Given the description of an element on the screen output the (x, y) to click on. 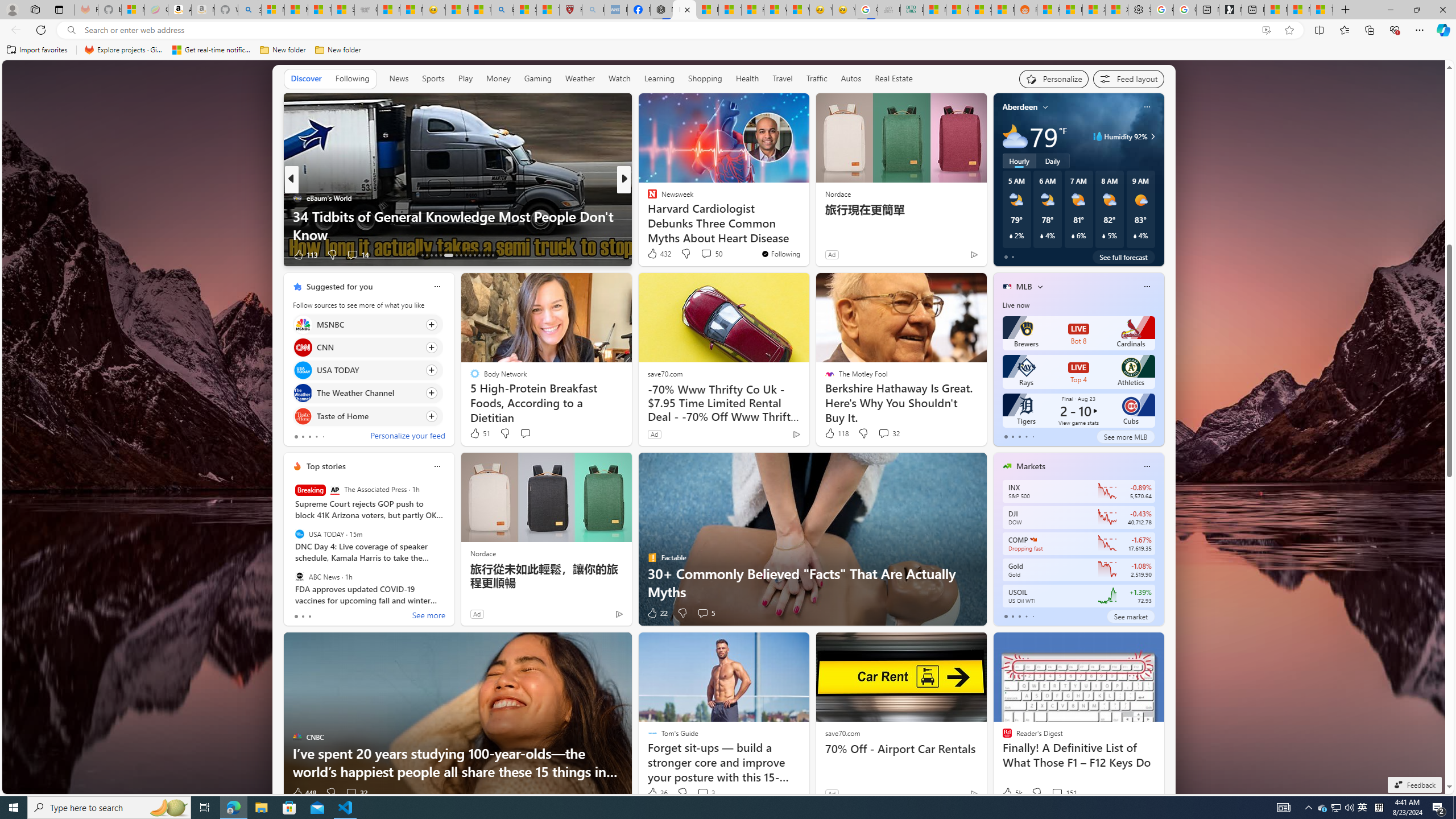
Class: weather-current-precipitation-glyph (1134, 235)
AutomationID: tab-66 (422, 255)
My location (1045, 106)
View comments 151 Comment (1063, 792)
Traffic (816, 78)
256 Like (654, 254)
Play (465, 79)
Import favorites (36, 49)
Sports (432, 79)
Travel (782, 79)
328 Like (654, 254)
